Given the description of an element on the screen output the (x, y) to click on. 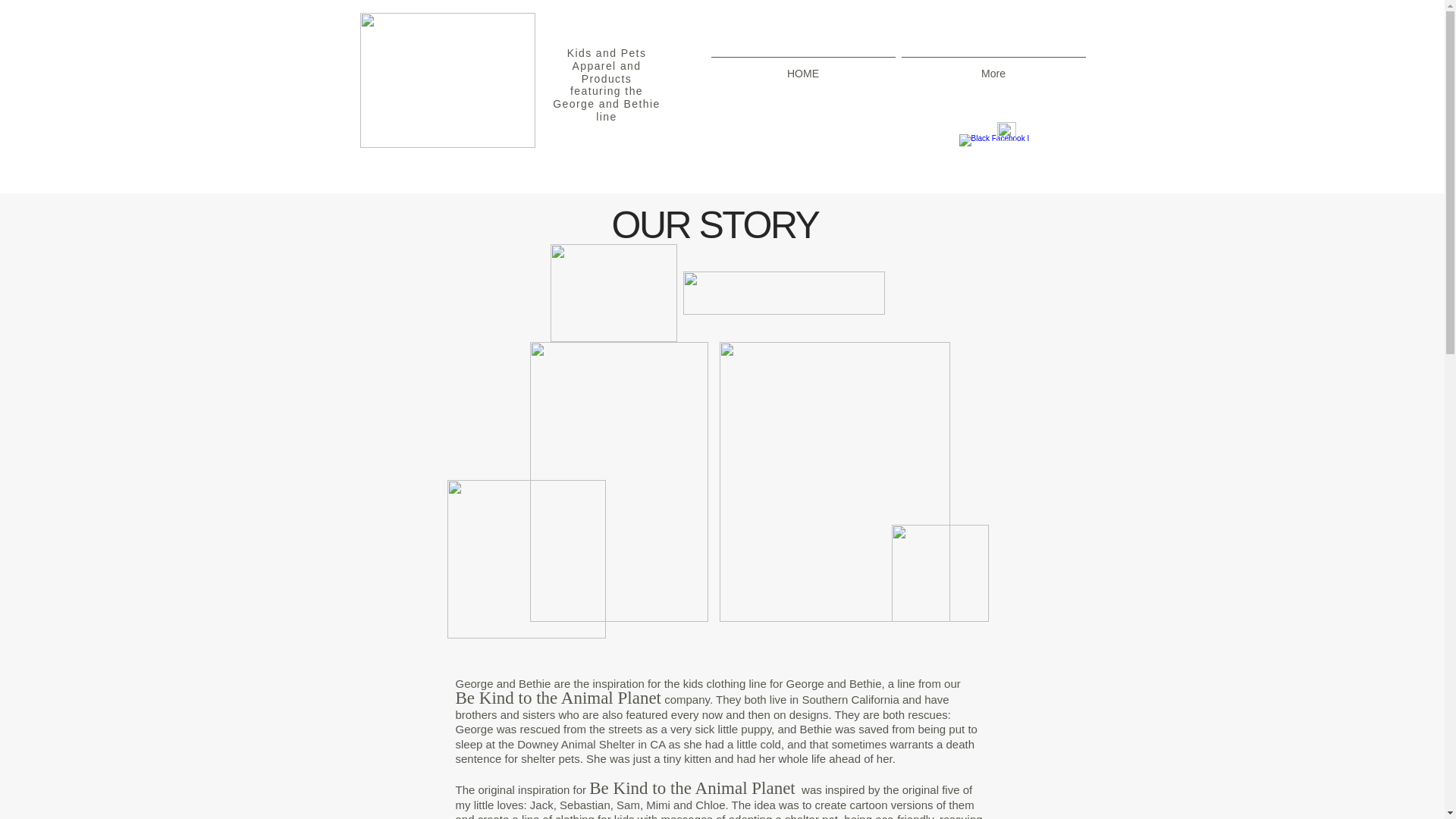
HOME (802, 66)
